Given the description of an element on the screen output the (x, y) to click on. 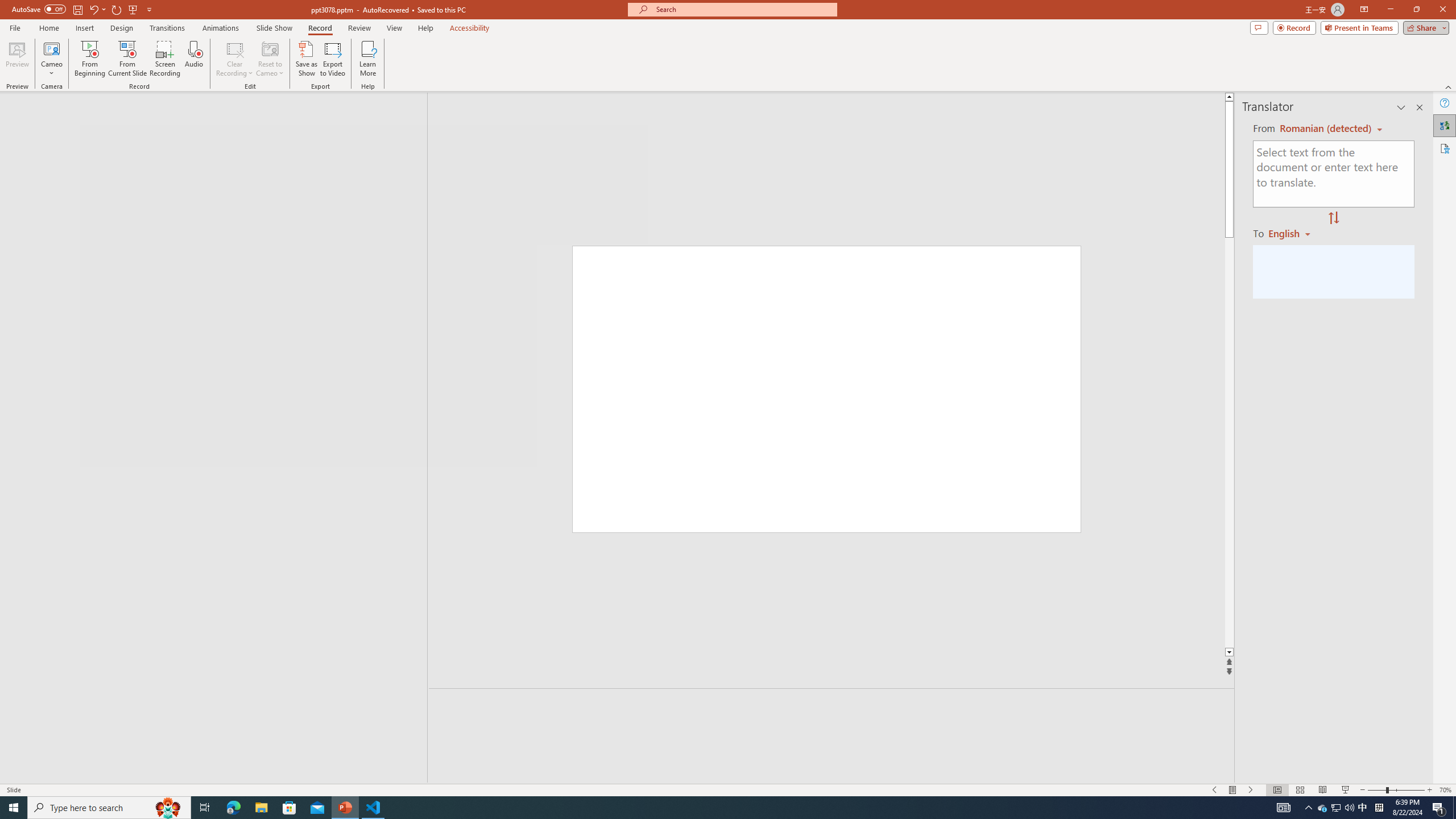
Review (359, 28)
Ribbon Display Options (1364, 9)
Zoom Out (1376, 790)
Undo (96, 9)
Redo (117, 9)
Reading View (1322, 790)
Slide Show Next On (1250, 790)
Zoom (1396, 790)
Cameo (51, 48)
Outline (218, 122)
From Beginning... (89, 58)
Restore Down (1416, 9)
